Given the description of an element on the screen output the (x, y) to click on. 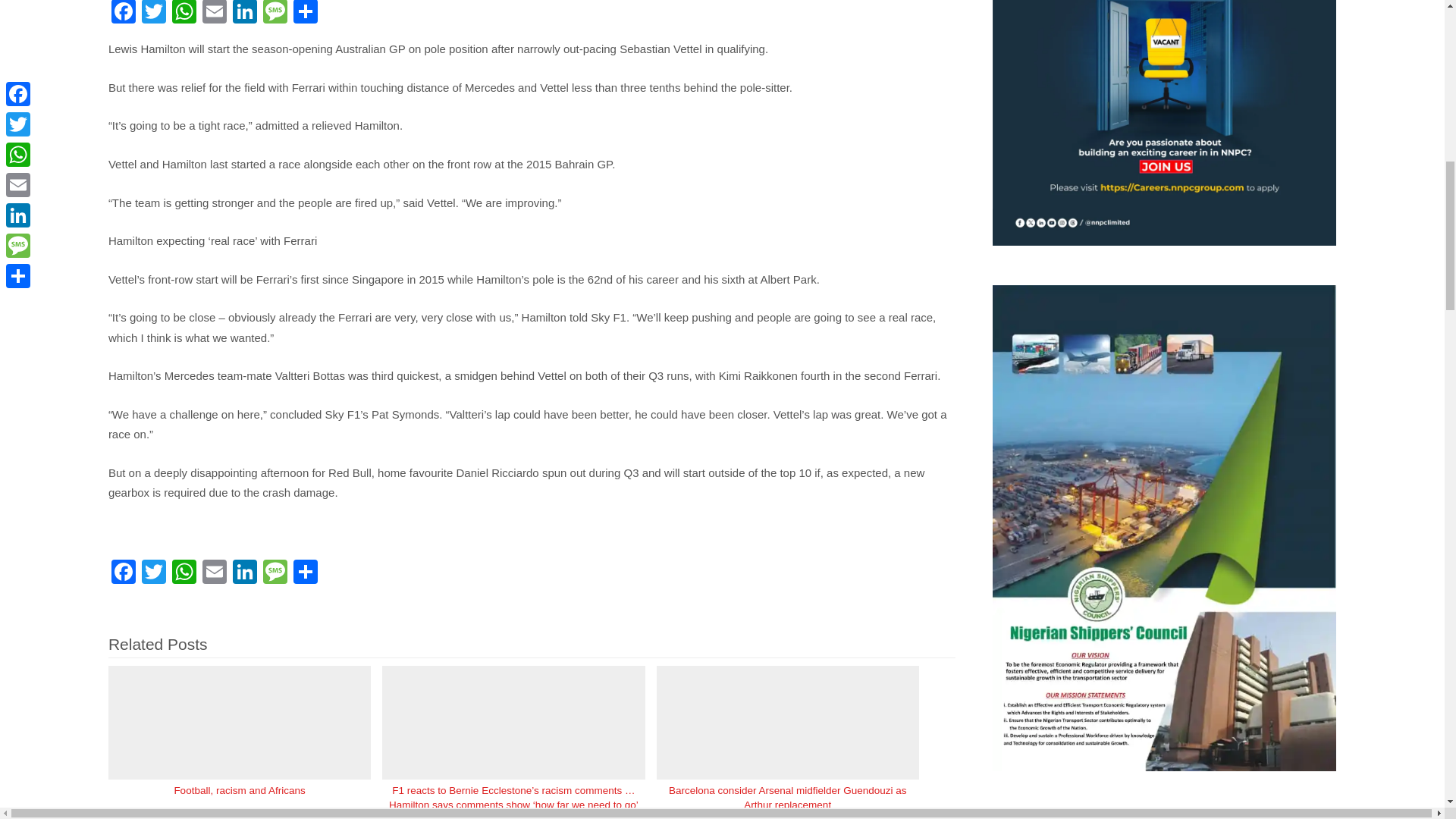
WhatsApp (183, 573)
Email (214, 573)
Message (274, 13)
WhatsApp (183, 13)
Email (214, 573)
Email (214, 13)
Email (214, 13)
Facebook (122, 13)
LinkedIn (245, 13)
